Given the description of an element on the screen output the (x, y) to click on. 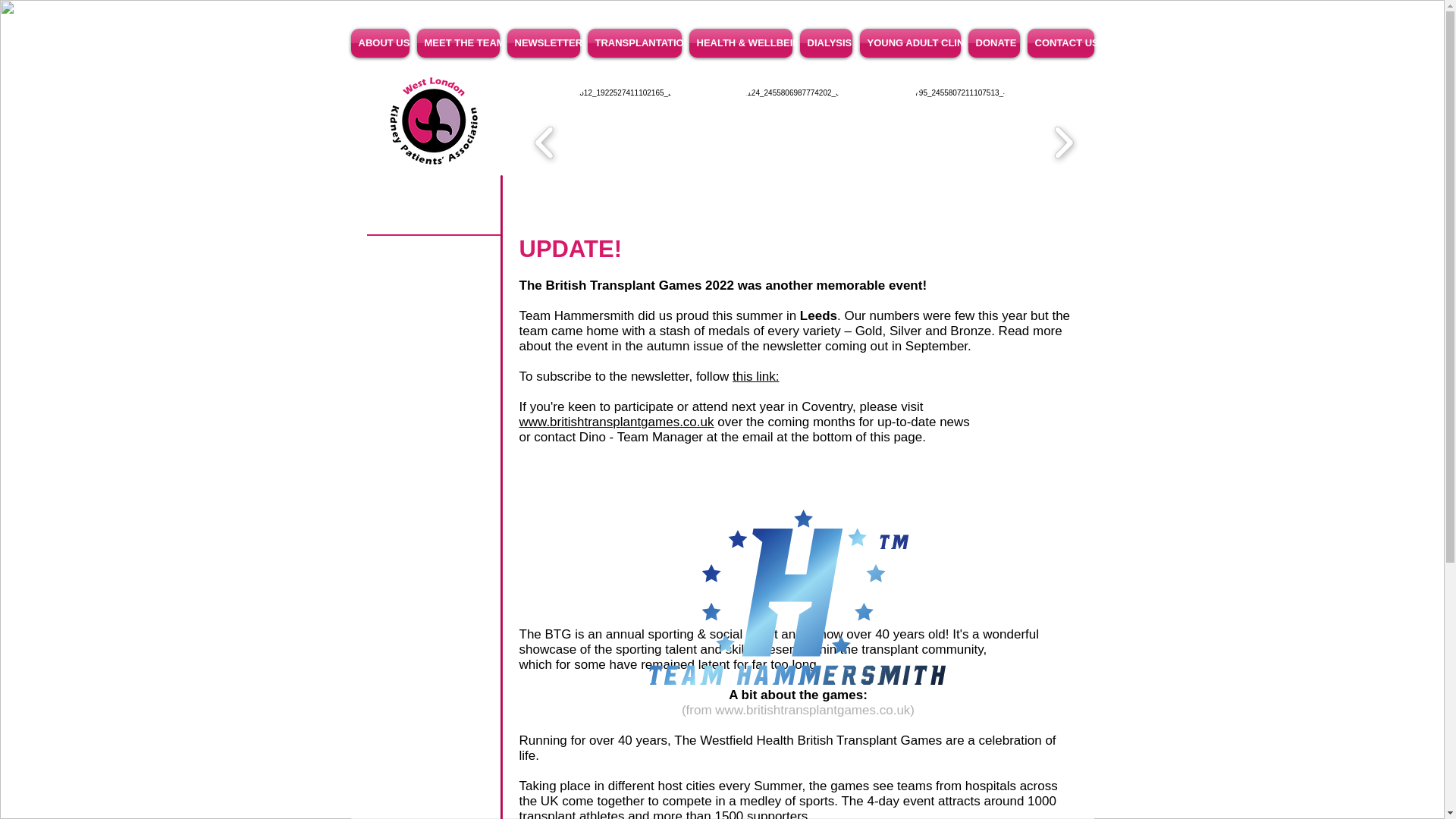
TRANSPLANTATION (634, 42)
YOUNG ADULT CLINIC (909, 42)
NEWSLETTERS (543, 42)
CONTACT US (1058, 42)
www.britishtransplantgames.co.uk (615, 421)
this link: (755, 376)
ABOUT US (381, 42)
WLKPA-logo-colour-text.png (432, 121)
www.britishtransplantgames.co.uk (812, 709)
